Given the description of an element on the screen output the (x, y) to click on. 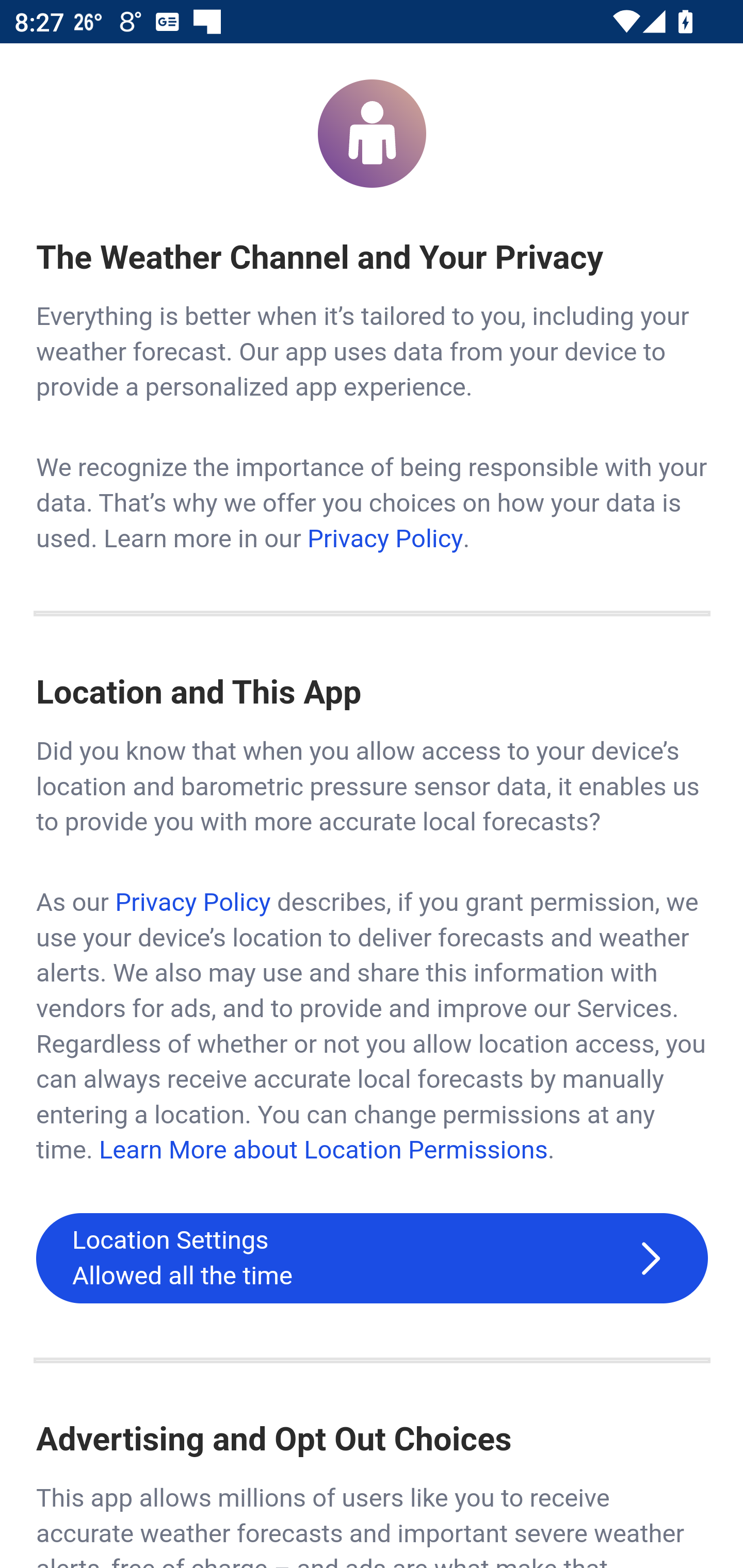
Open privacy policy in browser (384, 538)
Open privacy policy in browser (192, 902)
Learn More about Location Permissions (323, 1150)
